Given the description of an element on the screen output the (x, y) to click on. 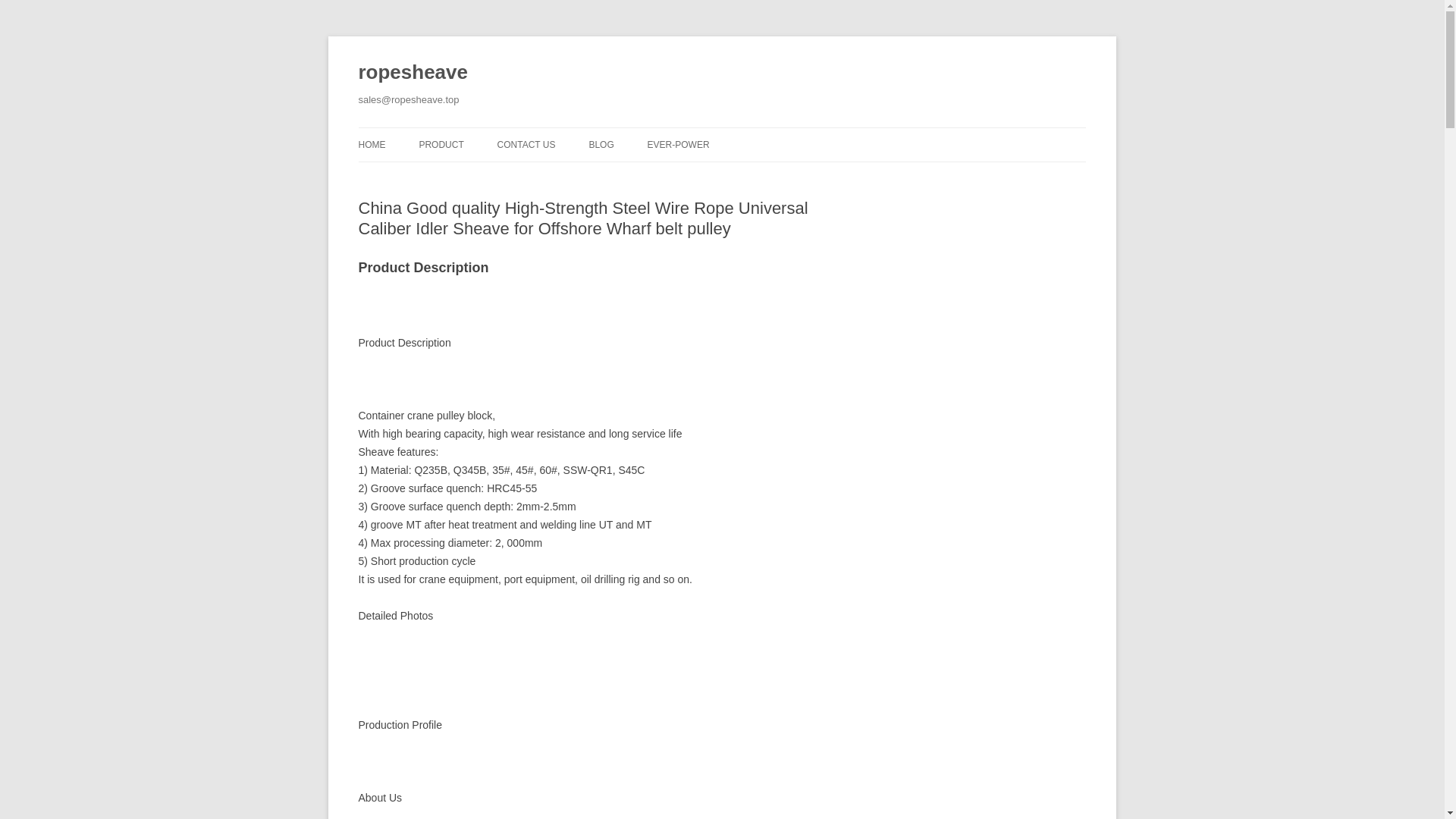
EVER-POWER (678, 144)
PRODUCT (441, 144)
CONTACT US (526, 144)
ropesheave (412, 72)
ropesheave (412, 72)
